Given the description of an element on the screen output the (x, y) to click on. 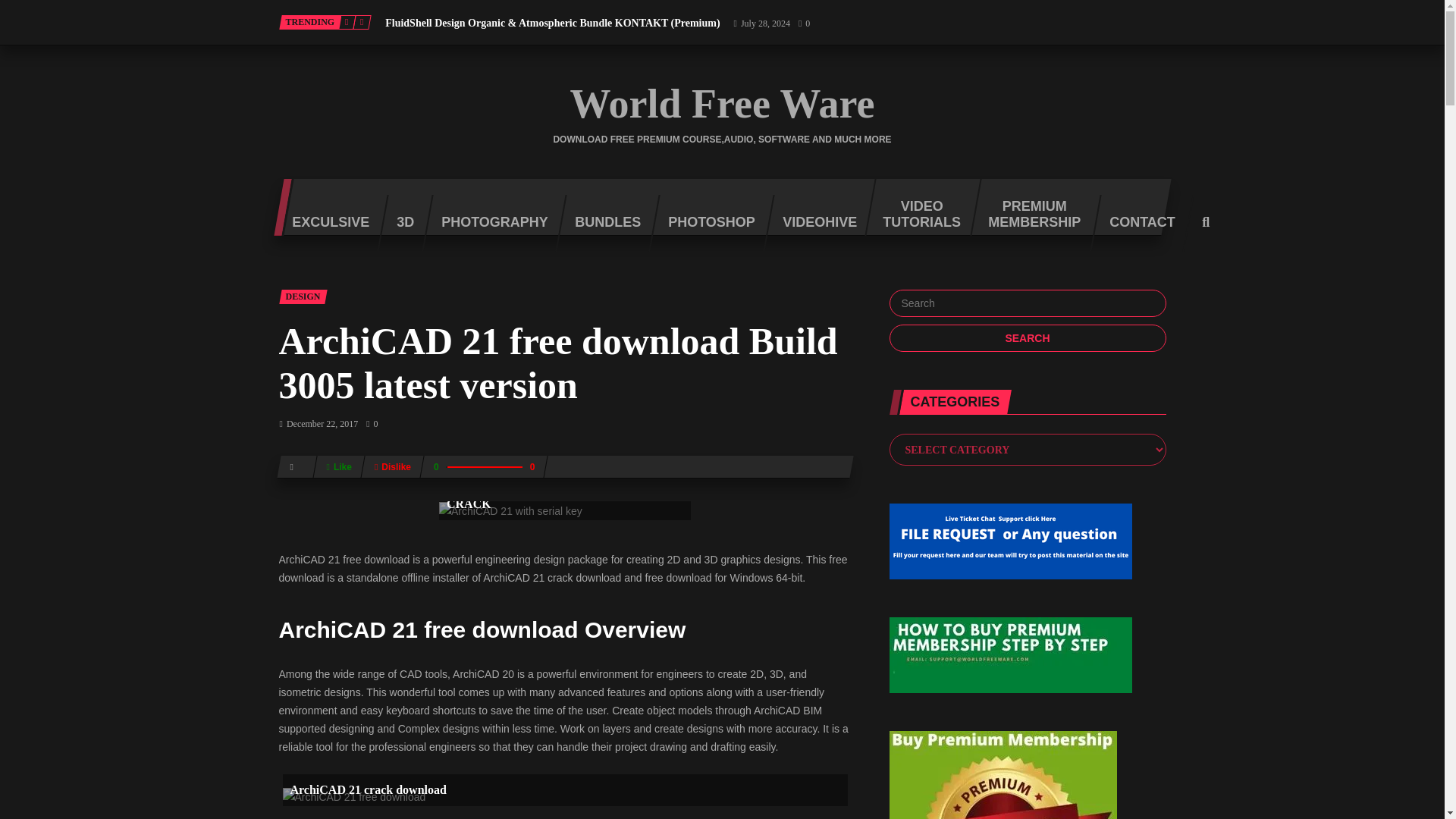
Contact (1135, 222)
design (303, 296)
Bundles (602, 222)
EXCULSIVE (325, 222)
videohive (813, 222)
World Free Ware (722, 103)
PHOTOGRAPHY (489, 222)
Video Tutorials (916, 207)
Premium membership (1029, 207)
Photography (489, 222)
